Given the description of an element on the screen output the (x, y) to click on. 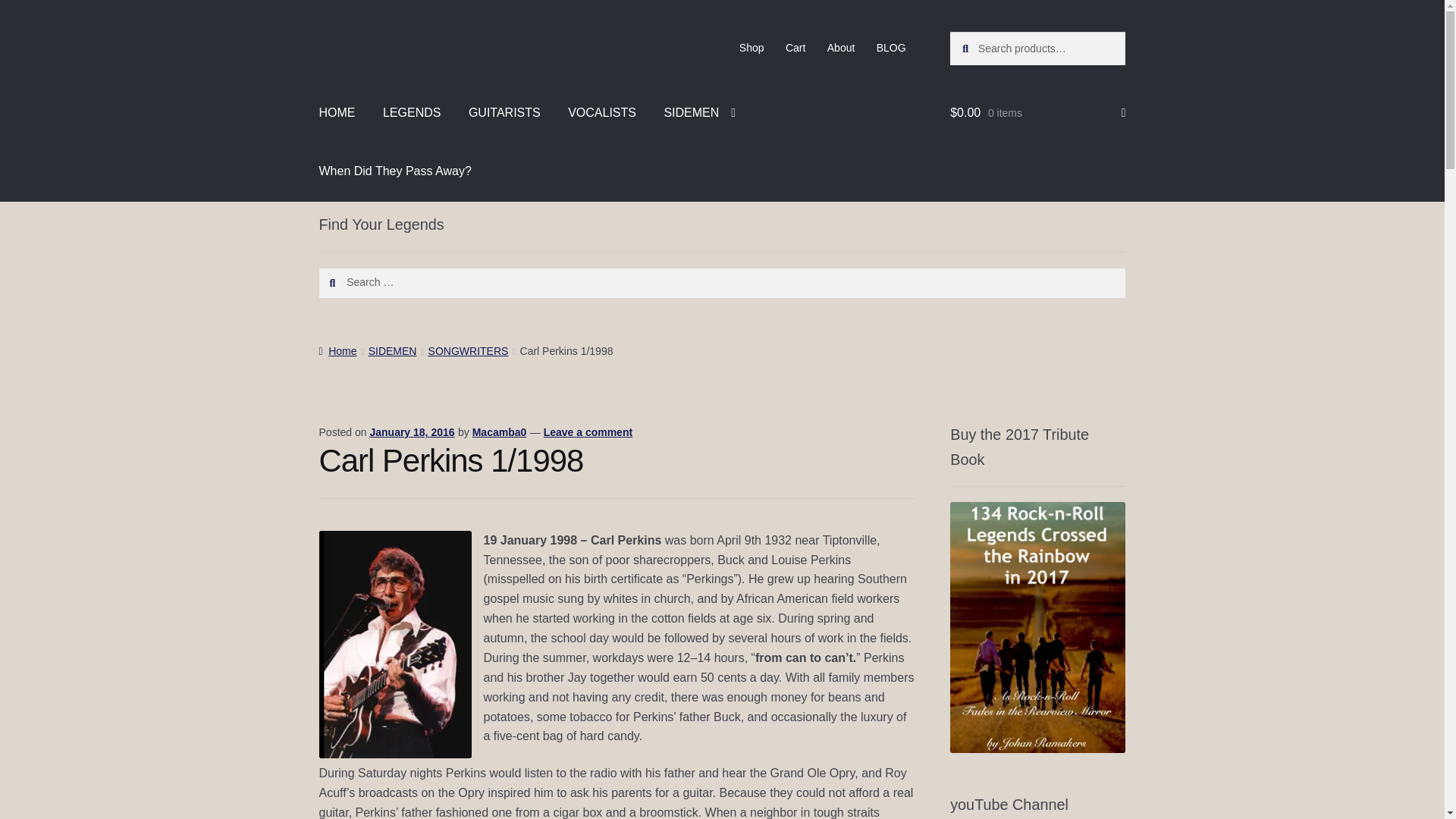
HOME (337, 112)
View your shopping cart (1037, 112)
VOCALISTS (601, 112)
Cart (795, 47)
GUITARISTS (505, 112)
SIDEMEN (699, 112)
BLOG (891, 47)
